Given the description of an element on the screen output the (x, y) to click on. 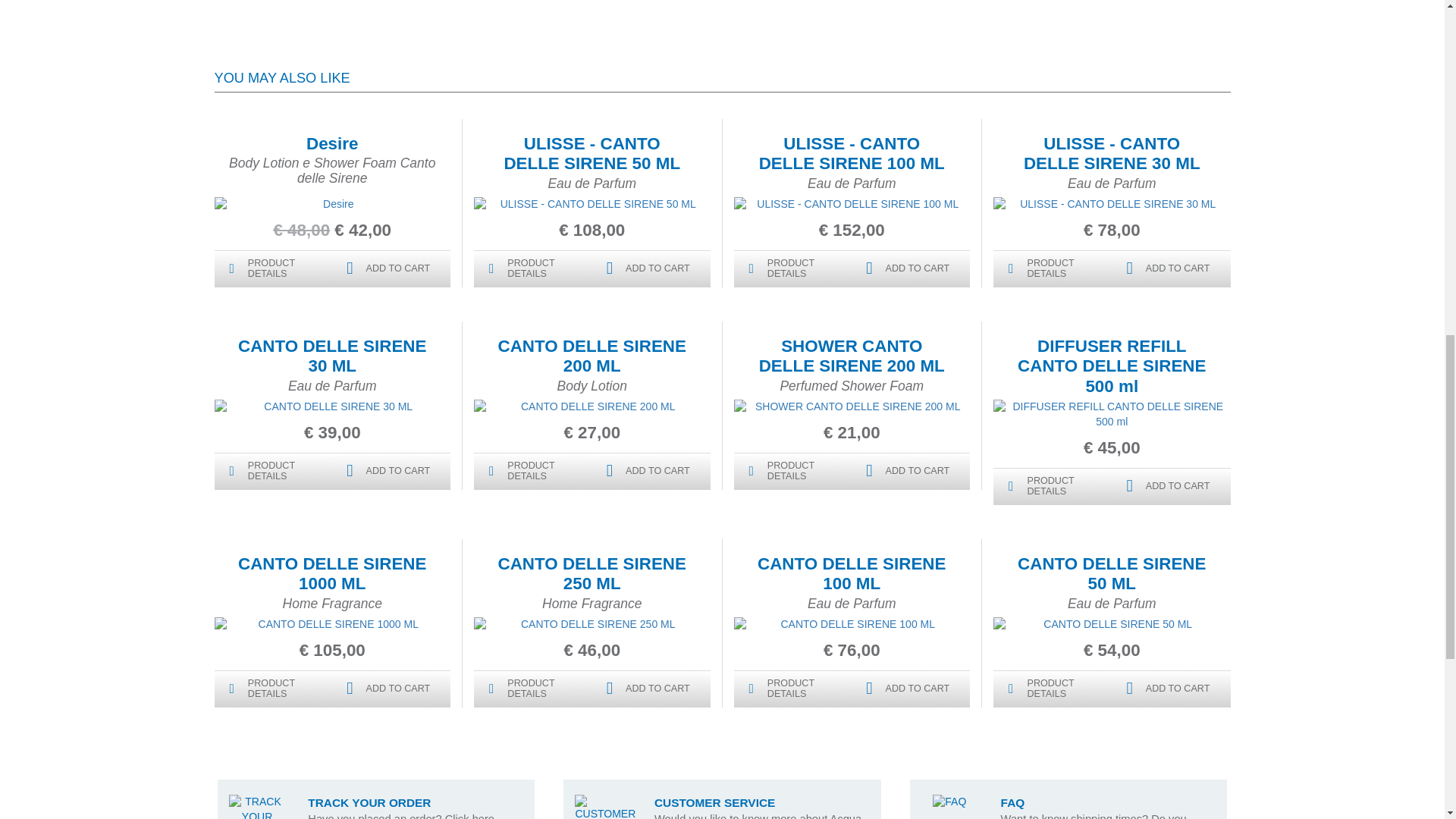
ULISSE - CANTO DELLE SIRENE 100 ML (851, 153)
ULISSE - CANTO DELLE SIRENE 50 ML (591, 153)
CUSTOMER SERVICE (604, 806)
TRACK YOUR ORDER (256, 806)
Desire (331, 143)
FAQ (949, 801)
